Given the description of an element on the screen output the (x, y) to click on. 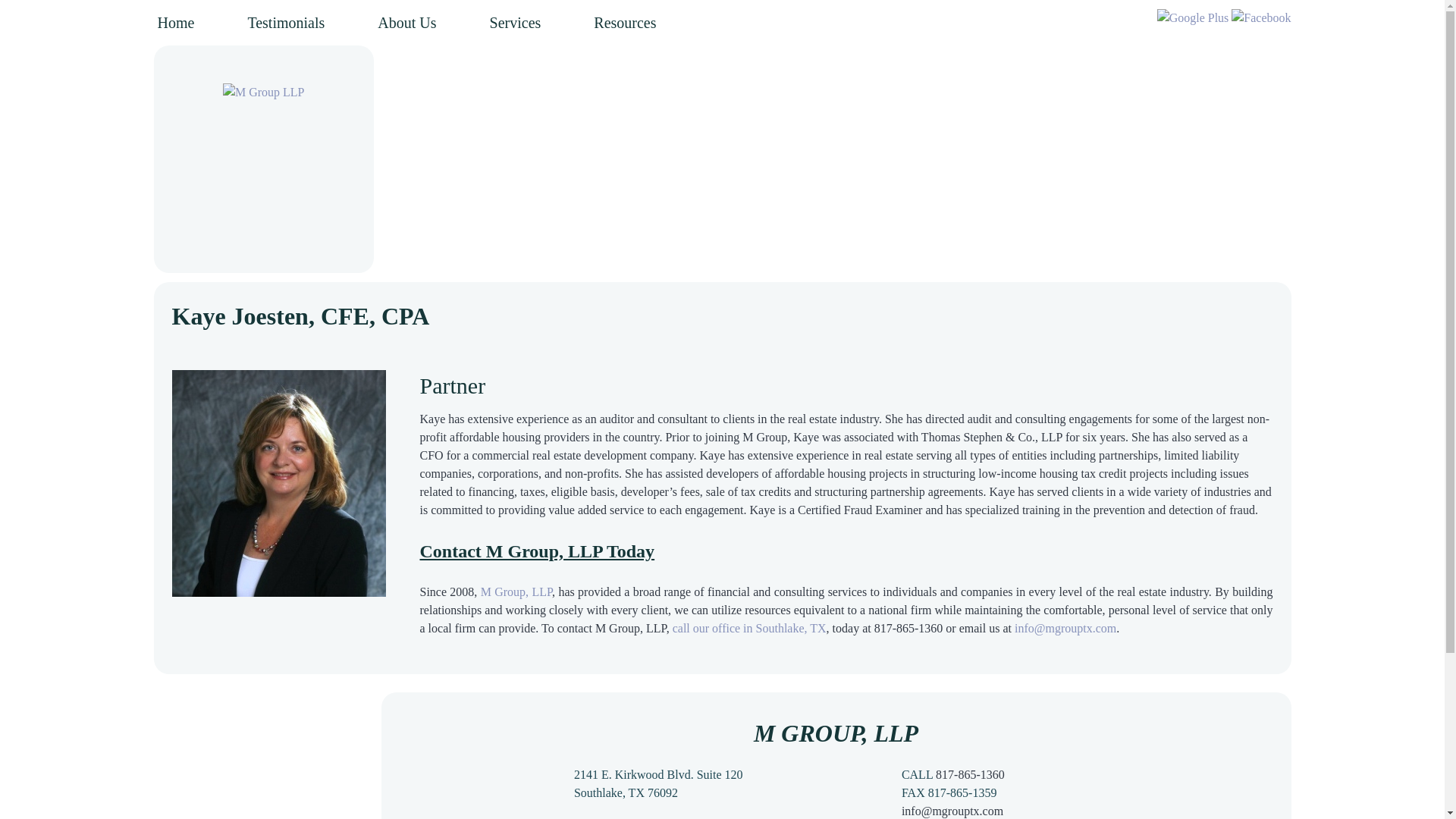
About Us (406, 22)
817-865-1360 (970, 774)
Testimonials (285, 22)
call our office in Southlake, TX (749, 627)
Home (178, 22)
Resources (624, 22)
Services (516, 22)
M Group, LLP (515, 591)
